Given the description of an element on the screen output the (x, y) to click on. 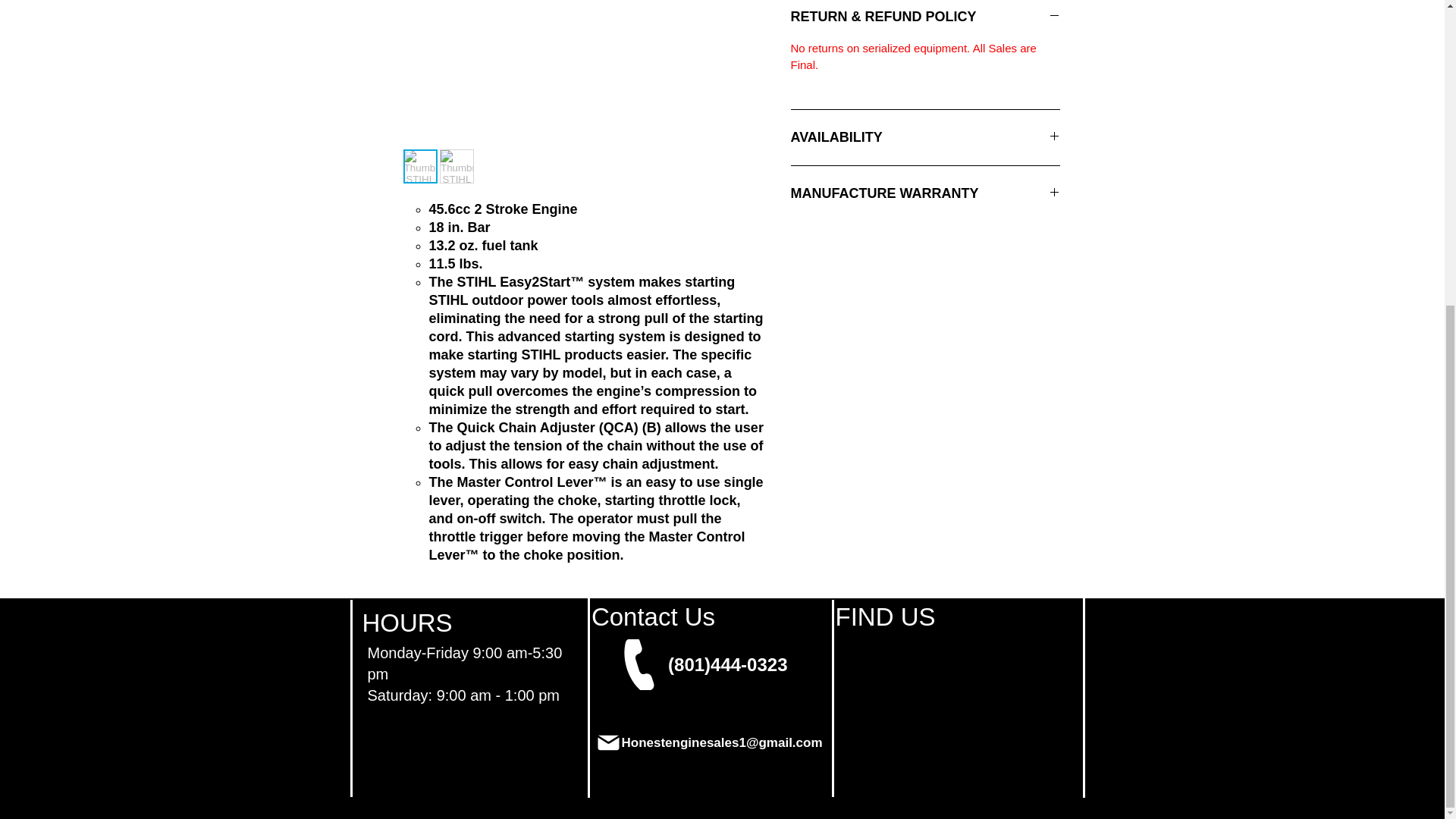
MANUFACTURE WARRANTY (924, 193)
AVAILABILITY (924, 137)
